Given the description of an element on the screen output the (x, y) to click on. 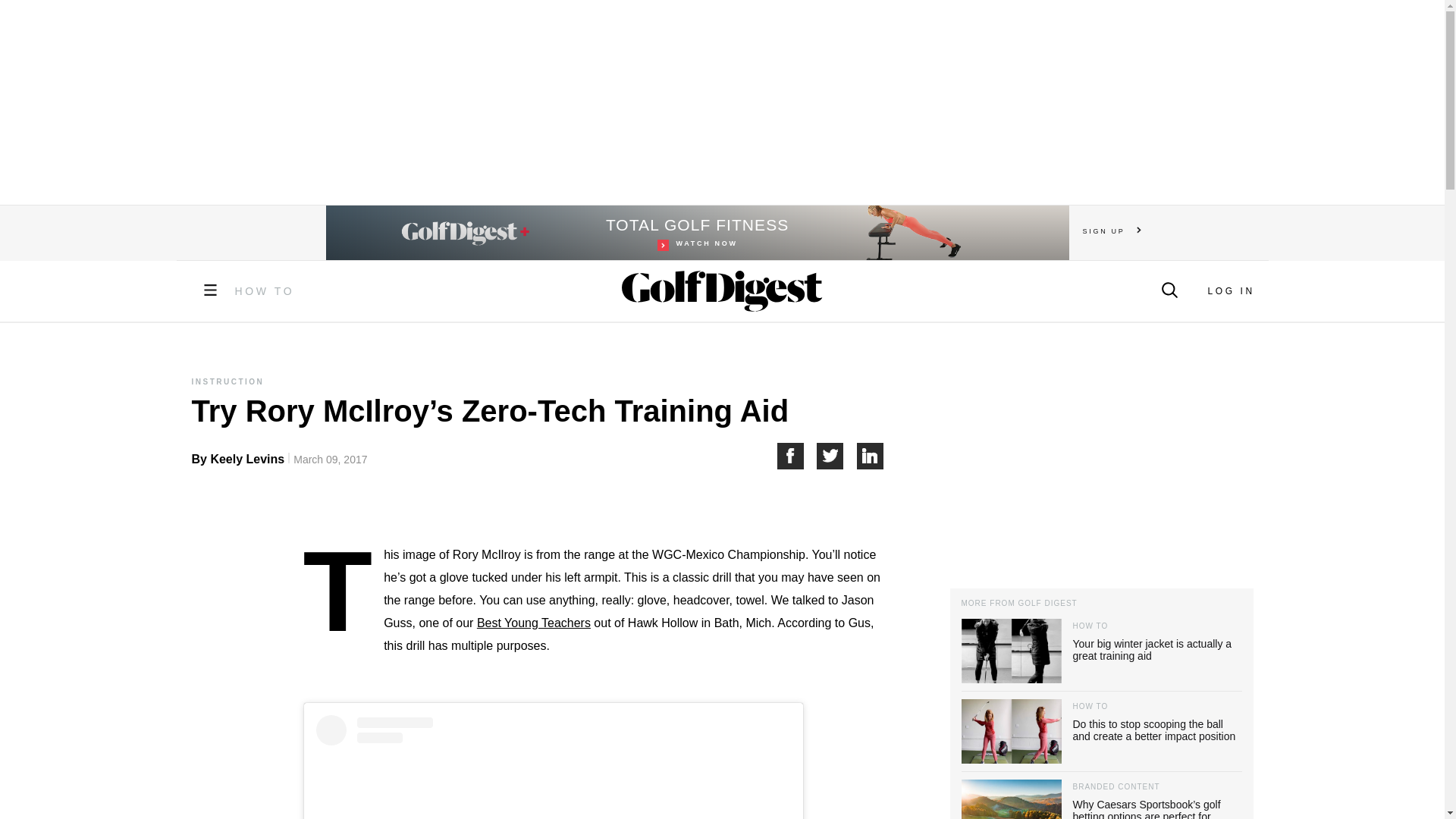
SIGN UP (1112, 230)
LOG IN (1230, 290)
HOW TO (264, 291)
Share on Facebook (796, 456)
Share on LinkedIn (697, 232)
Share on Twitter (870, 456)
